Given the description of an element on the screen output the (x, y) to click on. 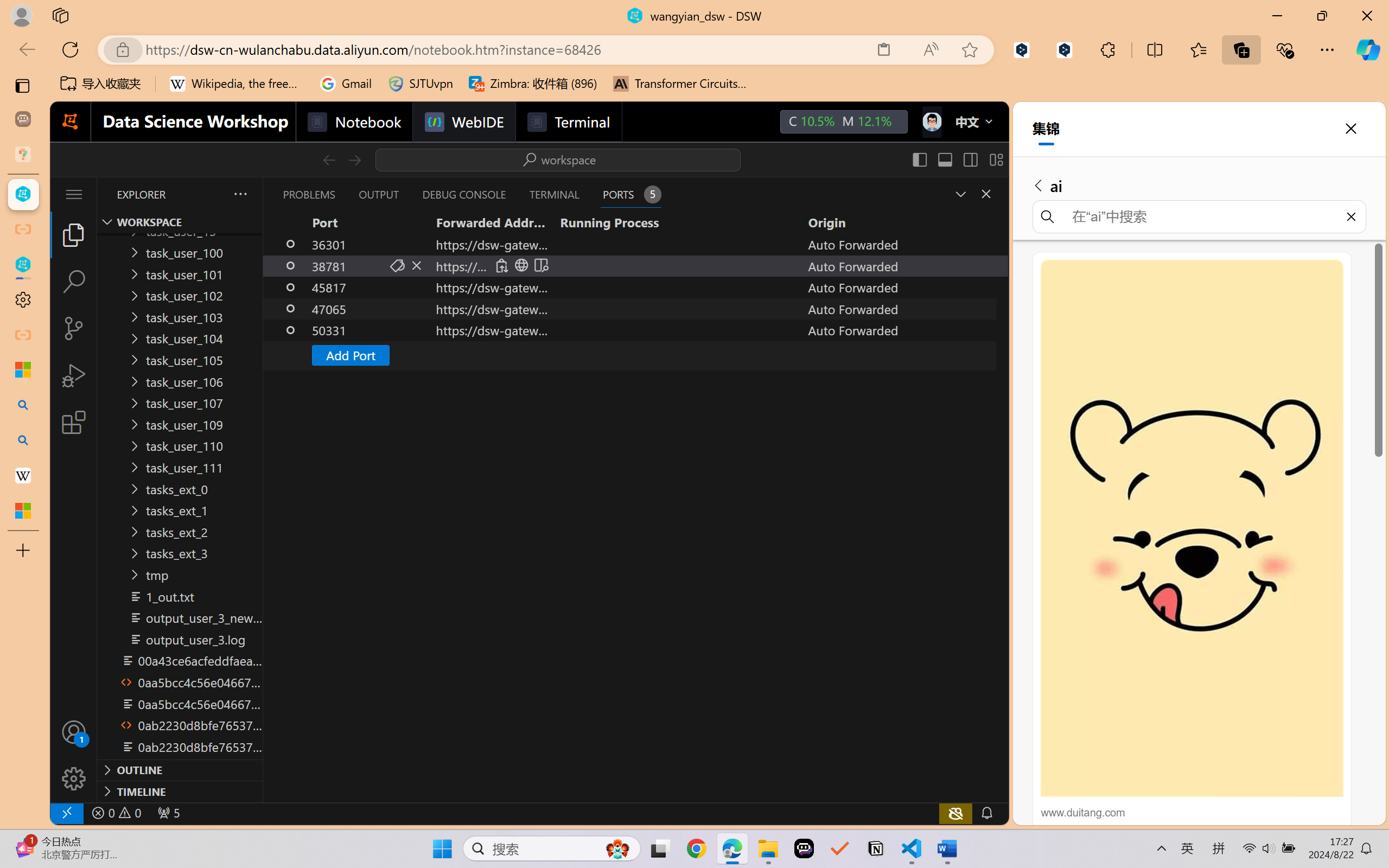
Extensions (Ctrl+Shift+X) (73, 422)
Add Port (349, 354)
Terminal (568, 121)
Toggle Primary Side Bar (Ctrl+B) (919, 159)
WebIDE (463, 121)
Explorer actions (211, 194)
Application Menu (73, 194)
Wikipedia, the free encyclopedia (236, 83)
